Given the description of an element on the screen output the (x, y) to click on. 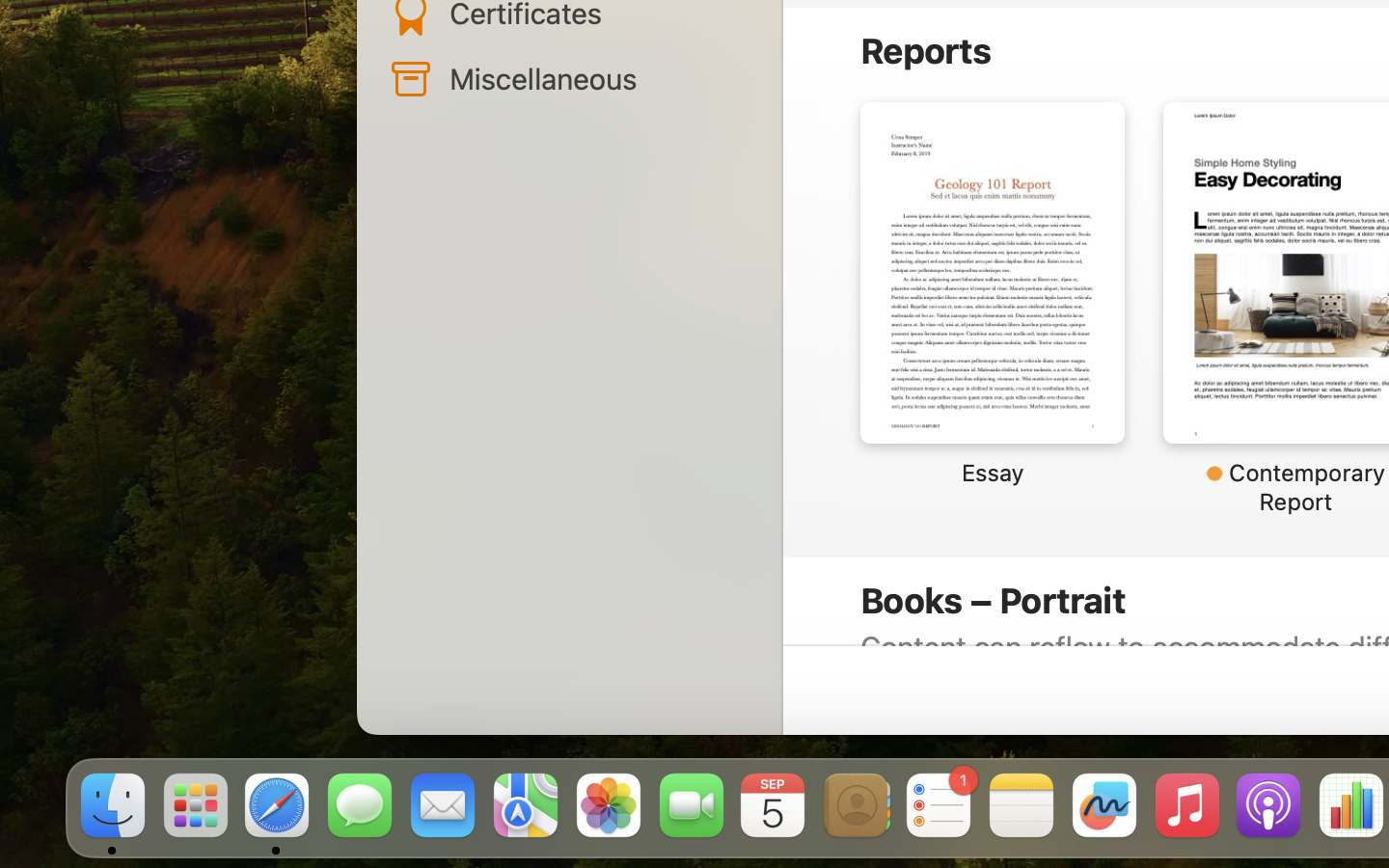
Miscellaneous Element type: AXStaticText (597, 77)
